Given the description of an element on the screen output the (x, y) to click on. 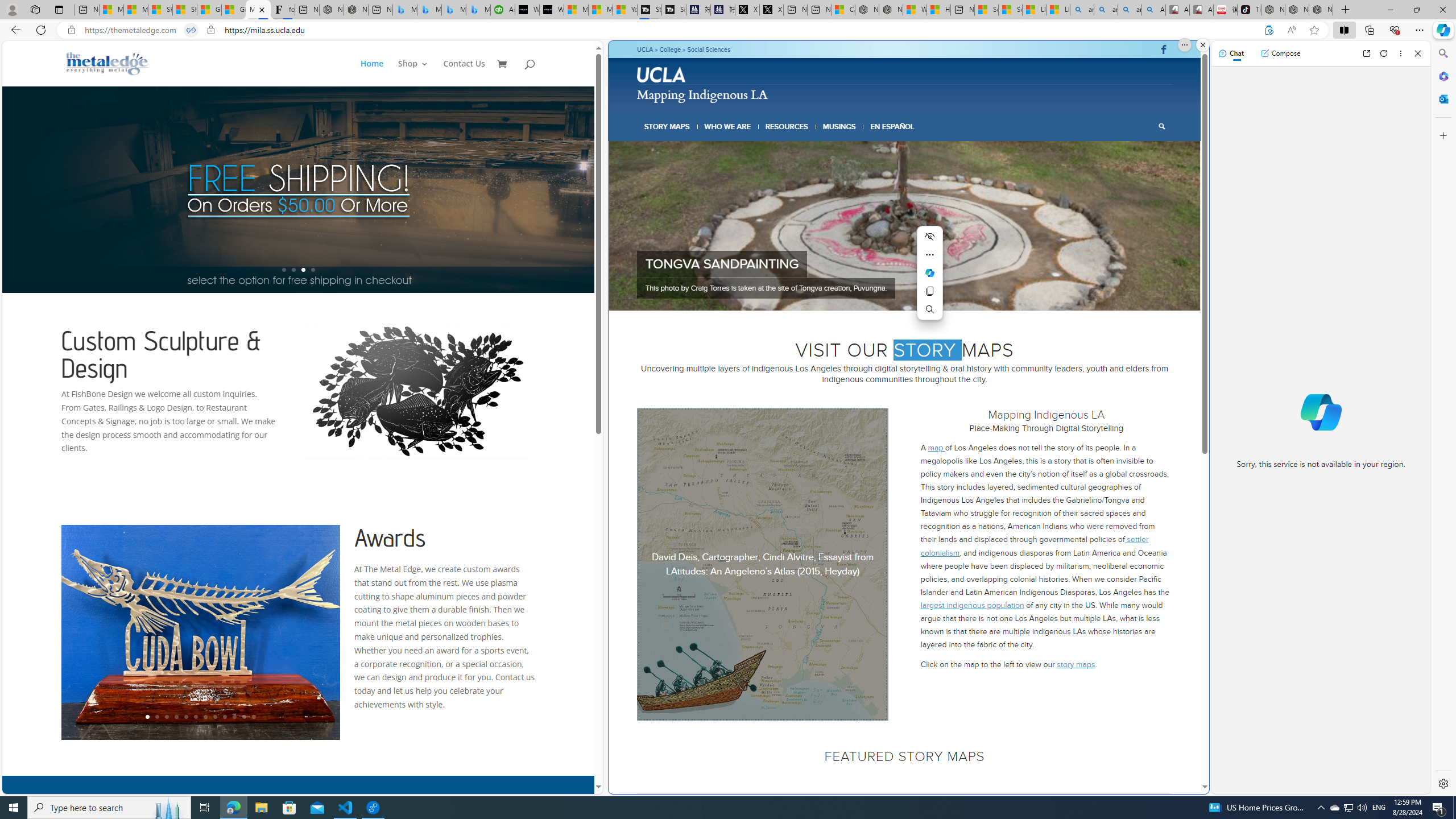
Mini menu on text selection (929, 272)
amazon - Search (1105, 9)
Mapping Indigenous LA (702, 93)
Contact Us (463, 72)
